Given the description of an element on the screen output the (x, y) to click on. 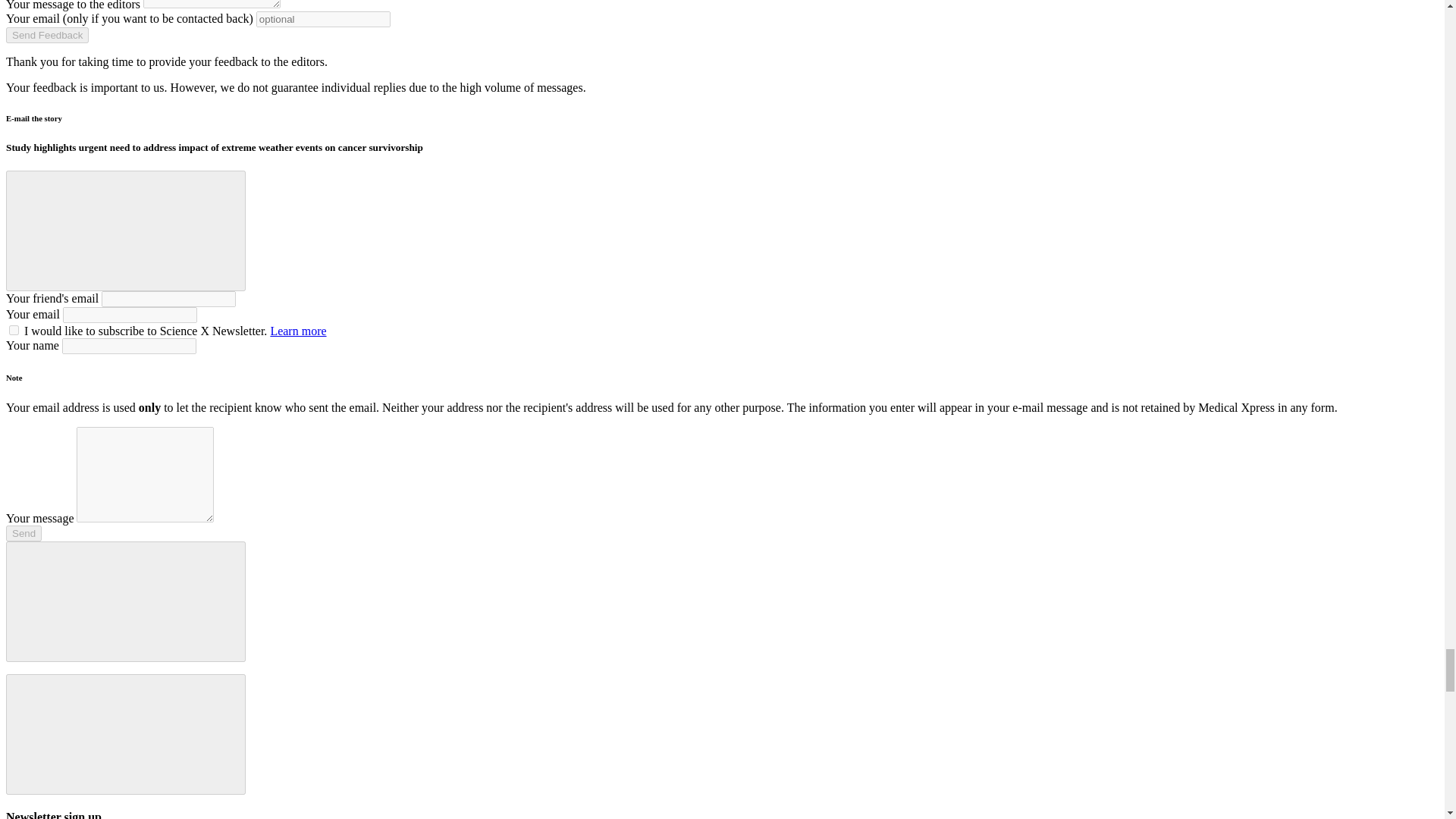
1 (13, 329)
